Given the description of an element on the screen output the (x, y) to click on. 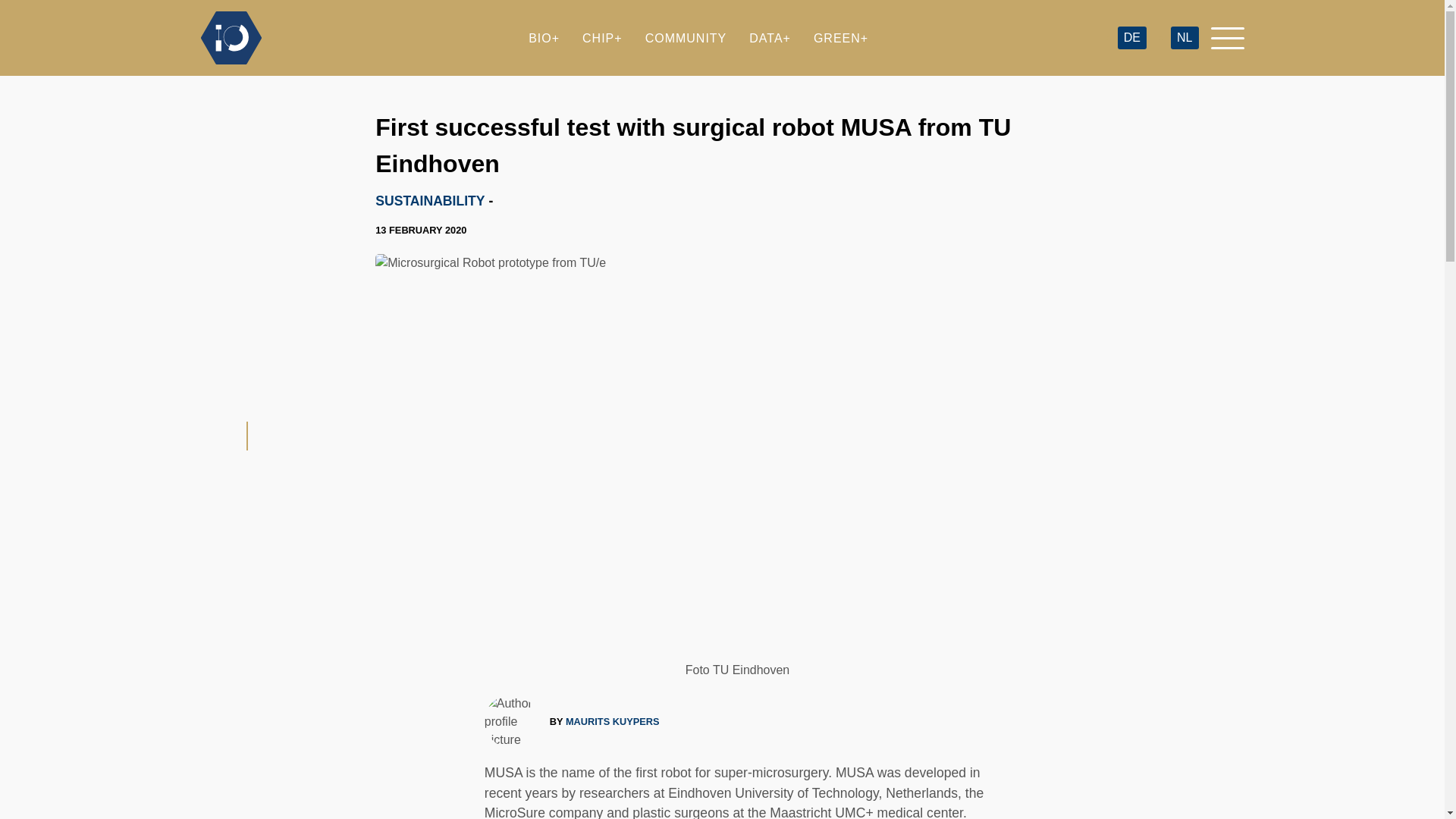
MAURITS KUYPERS (612, 721)
DE (1132, 37)
NL (1184, 37)
SUSTAINABILITY (429, 200)
COMMUNITY (685, 38)
